Given the description of an element on the screen output the (x, y) to click on. 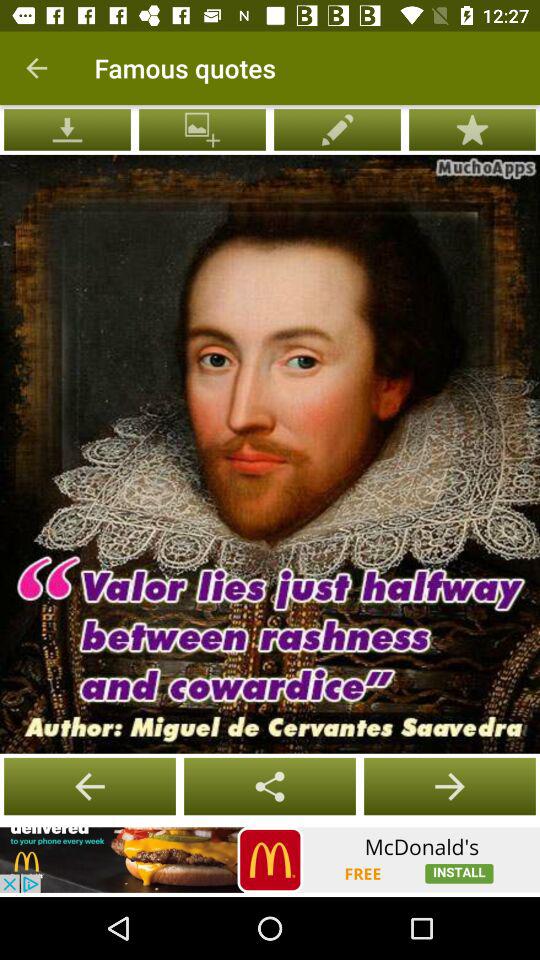
mcdonalds advertisement (270, 859)
